Given the description of an element on the screen output the (x, y) to click on. 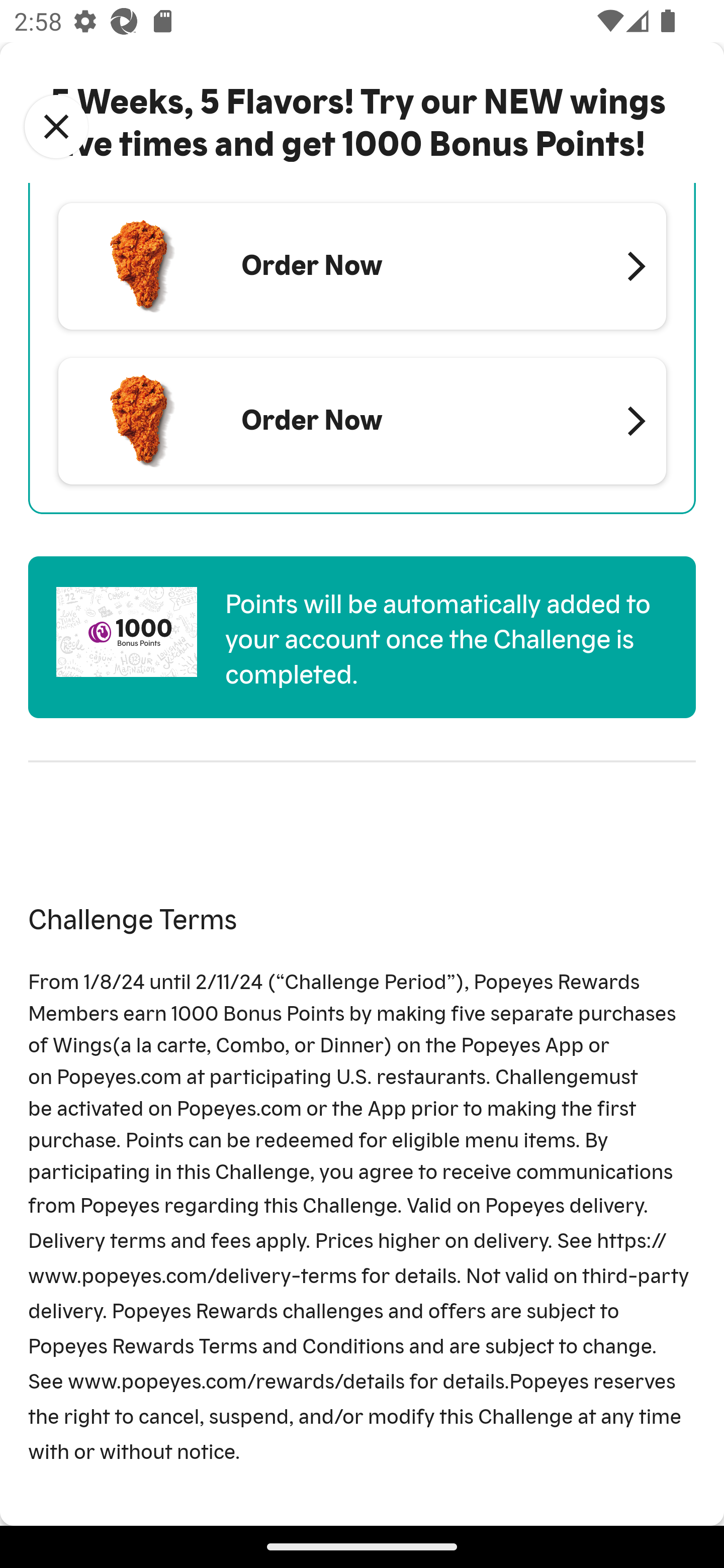
Close  (56, 126)
Order Now (362, 265)
Order Now (362, 420)
